Given the description of an element on the screen output the (x, y) to click on. 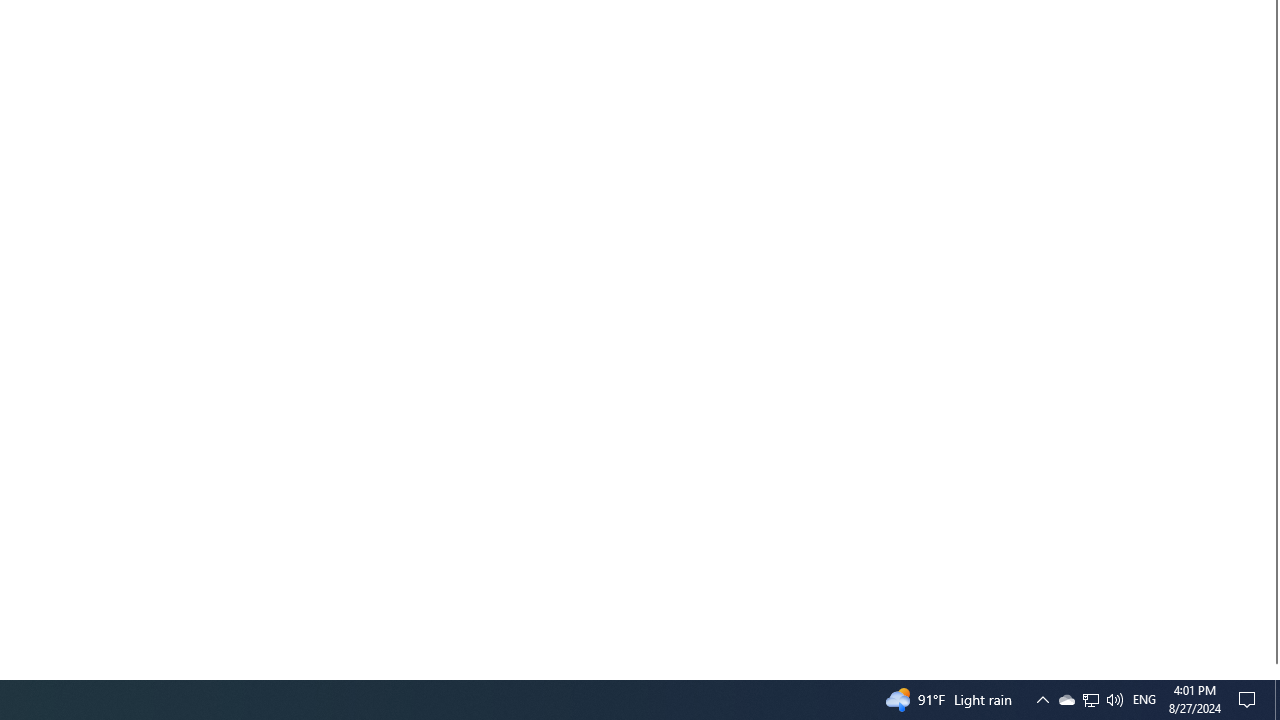
Tray Input Indicator - English (United States) (1144, 699)
Vertical Small Increase (1272, 671)
